Given the description of an element on the screen output the (x, y) to click on. 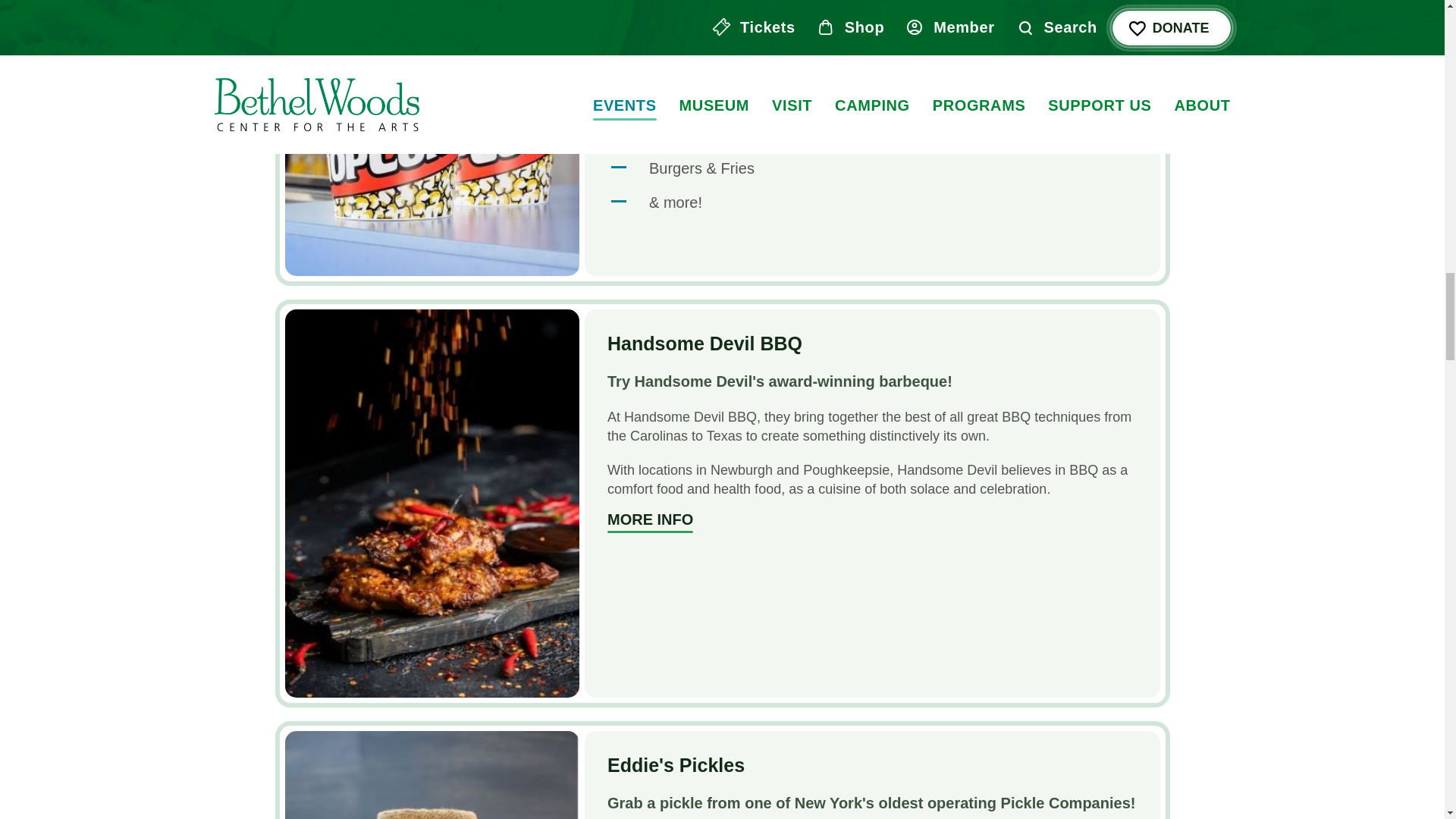
Handsome Devil BBQ (704, 342)
Handsome Devil BBQ (650, 522)
Eddie's Pickles (675, 764)
Eddie's Pickles (432, 775)
